Given the description of an element on the screen output the (x, y) to click on. 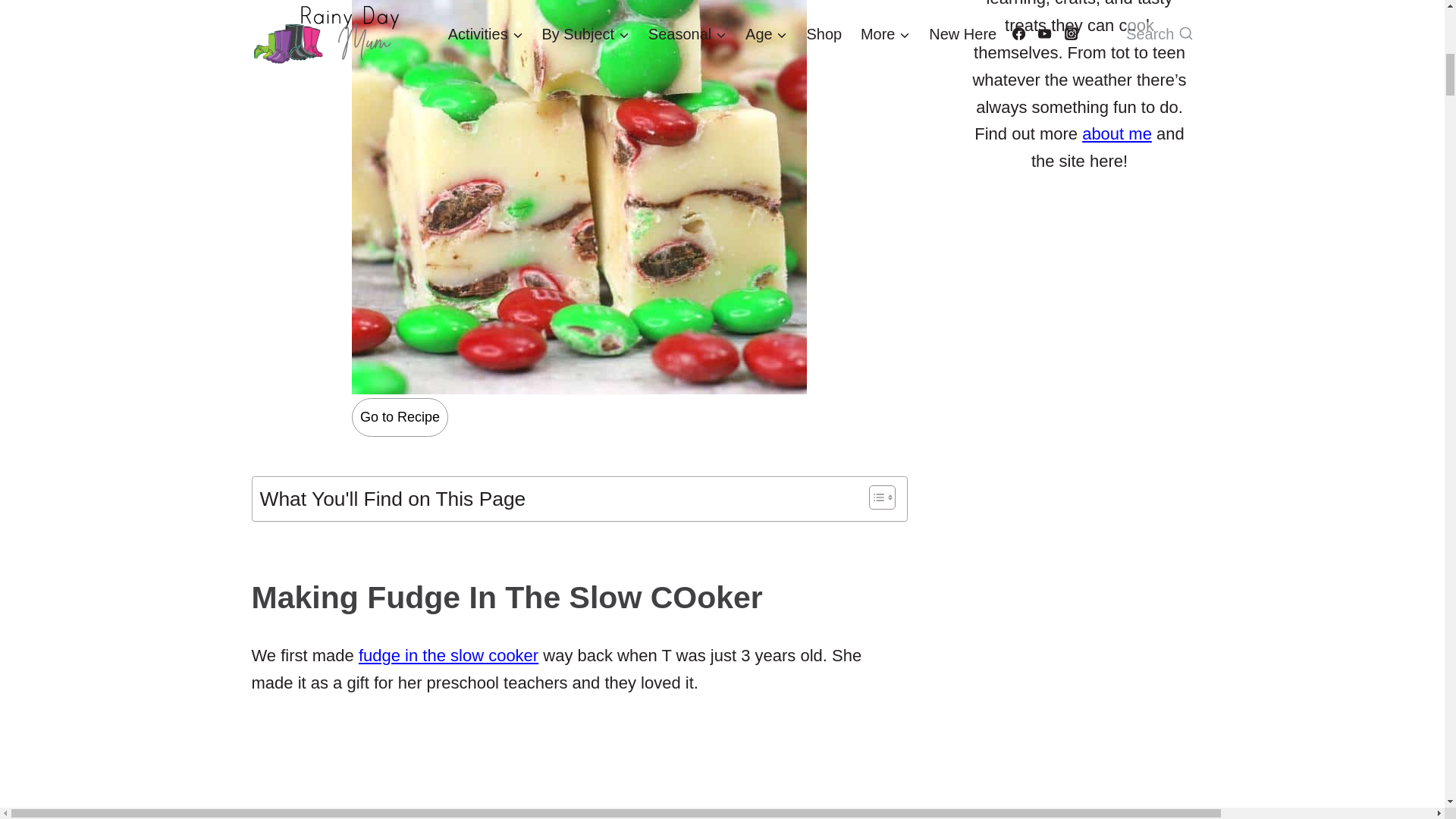
Go to Recipe (400, 417)
